Given the description of an element on the screen output the (x, y) to click on. 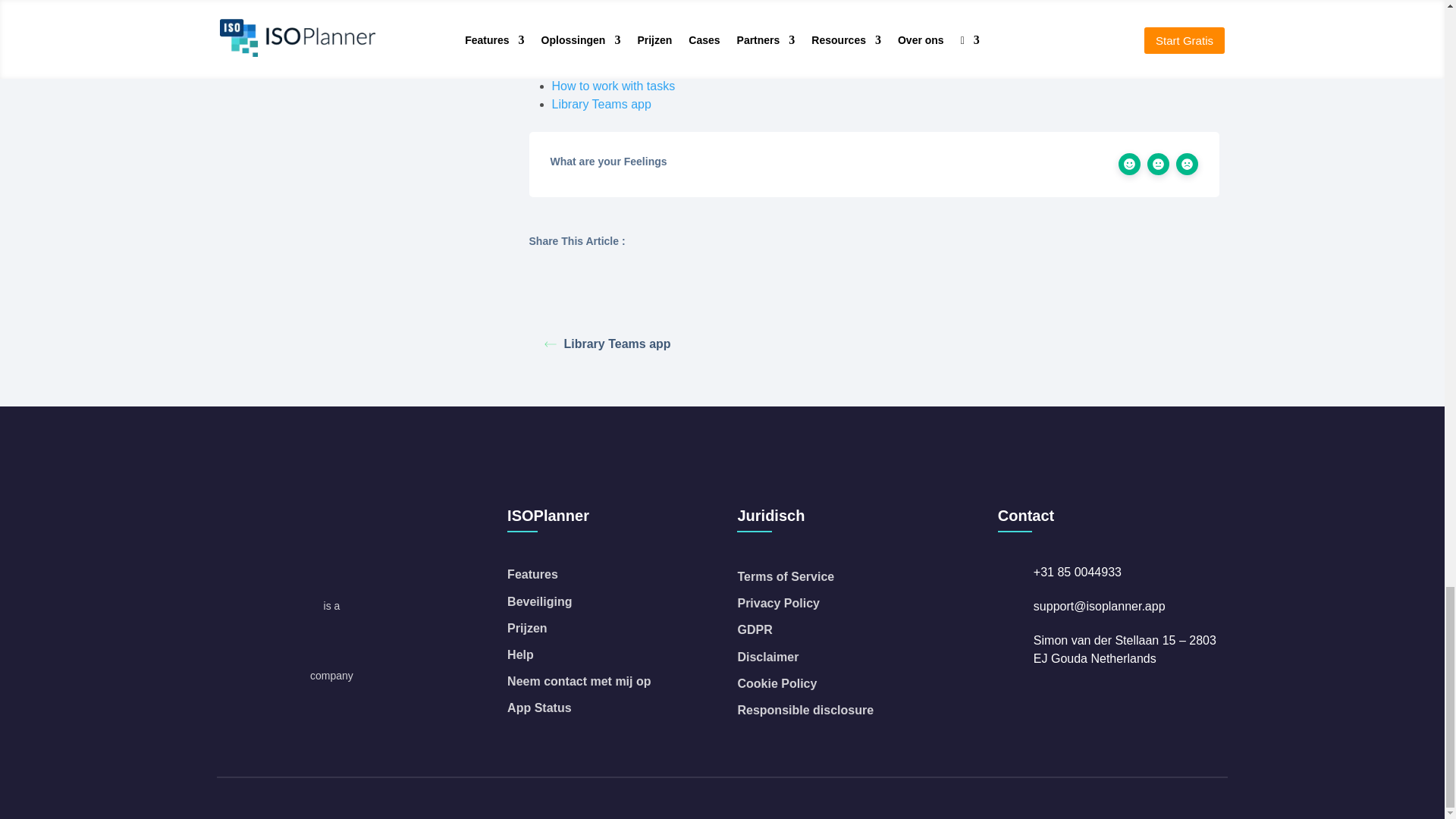
REDLAB-1024x188-1 (332, 648)
